Given the description of an element on the screen output the (x, y) to click on. 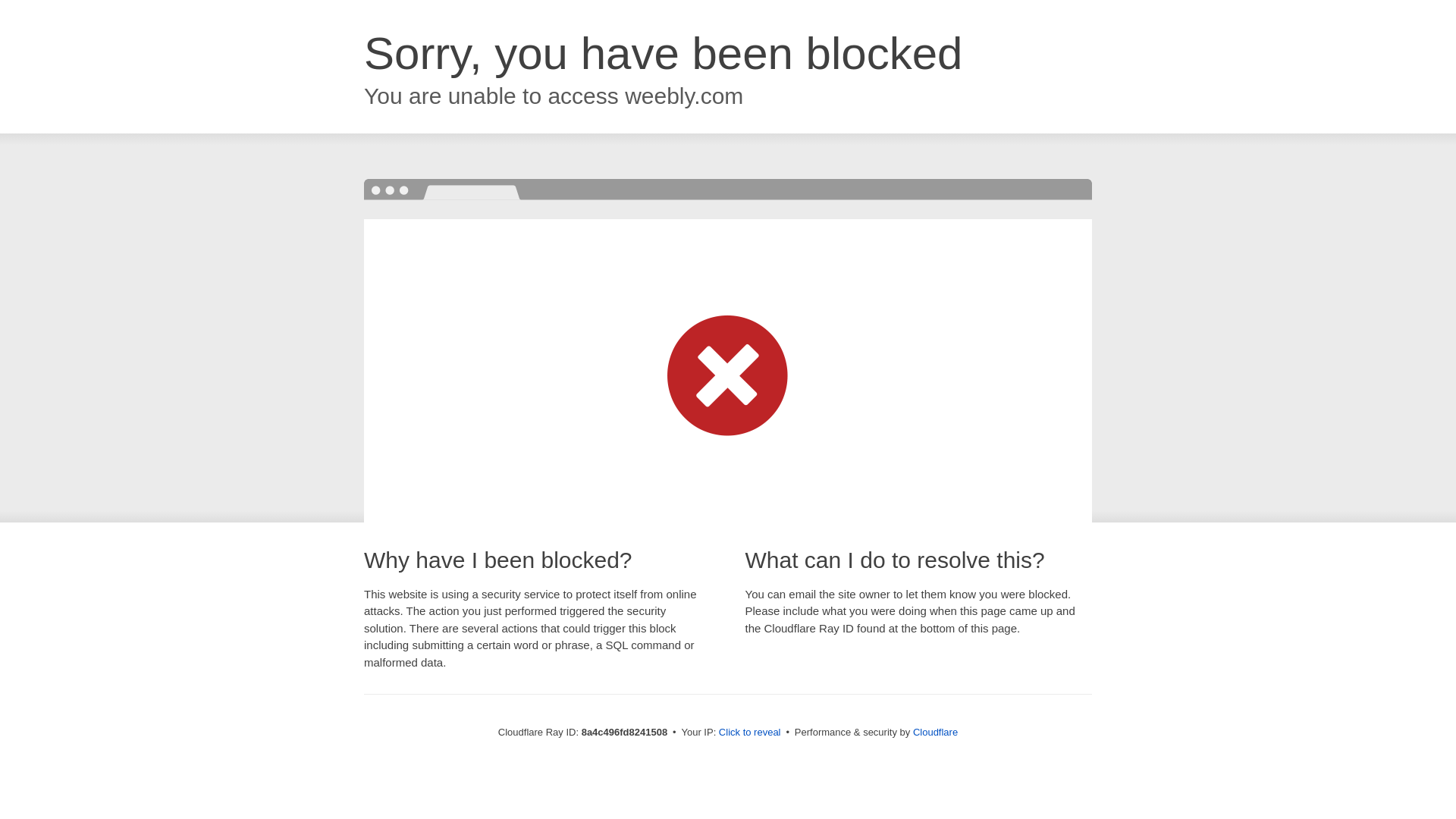
Cloudflare (935, 731)
Click to reveal (749, 732)
